Given the description of an element on the screen output the (x, y) to click on. 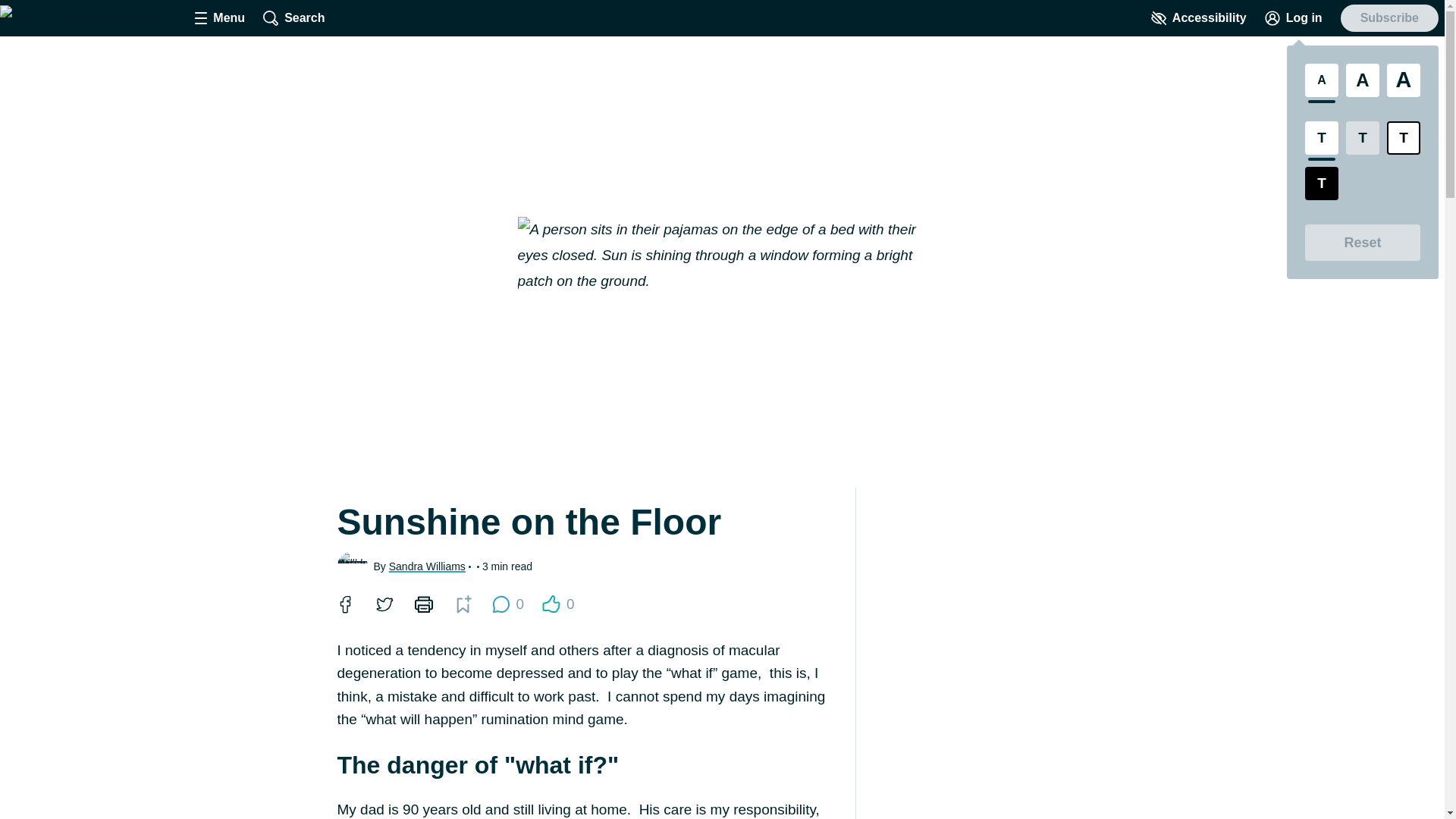
Menu (219, 18)
Bookmark for later (461, 604)
A (1321, 80)
Share to Twitter (383, 604)
Subscribe (1389, 17)
T (1361, 137)
Search (293, 18)
T (1321, 137)
Accessibility (1198, 18)
Share to Twitter (383, 604)
